Given the description of an element on the screen output the (x, y) to click on. 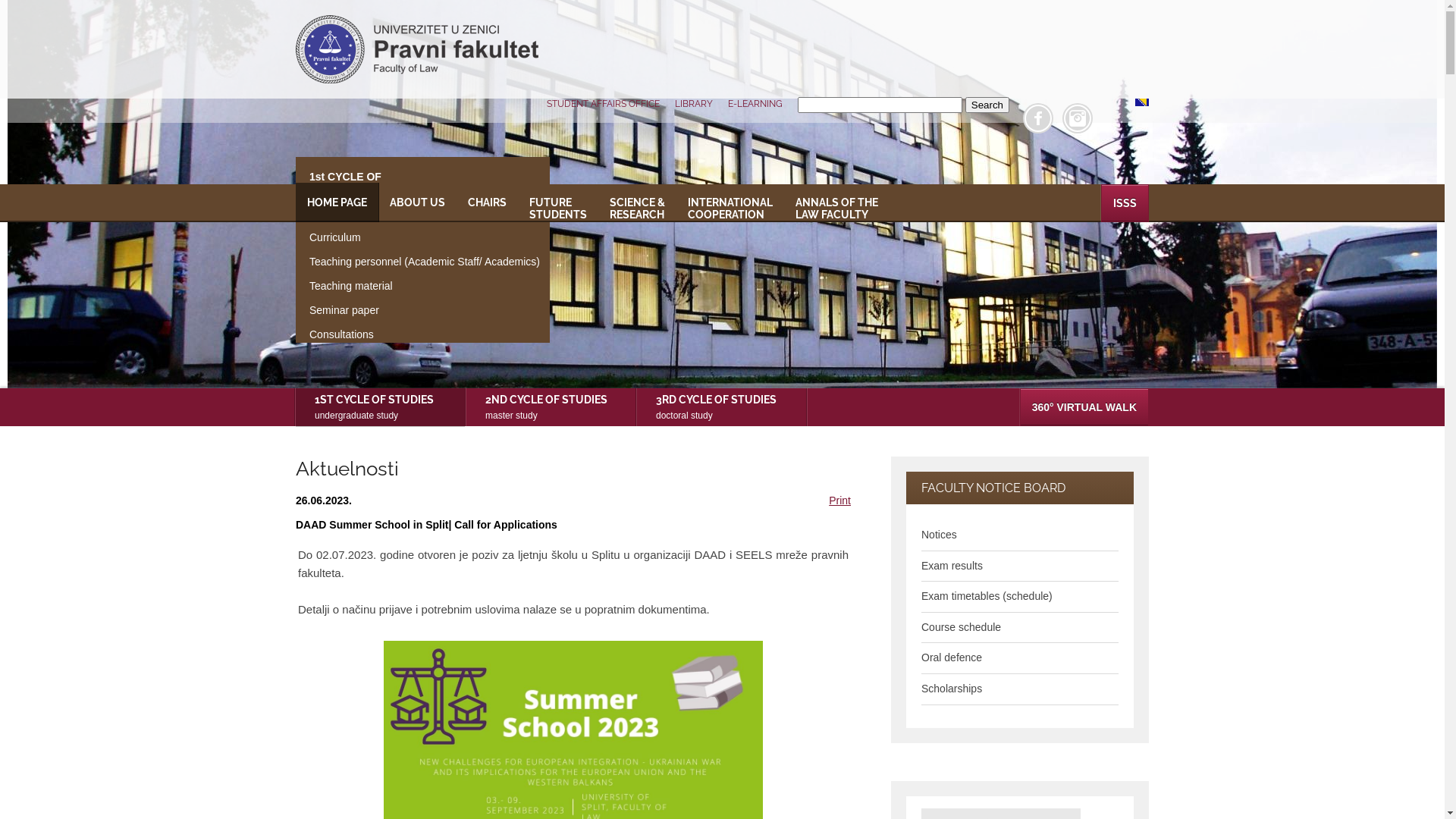
E-LEARNING Element type: text (755, 103)
Bosnian (BA) Element type: hover (1141, 101)
ISSS Element type: text (1124, 203)
STUDENT AFFAIRS OFFICE Element type: text (602, 103)
2ND CYCLE OF STUDIES
master study Element type: text (550, 407)
Teaching material Element type: text (369, 285)
Search Element type: text (987, 104)
LIBRARY Element type: text (693, 103)
Curriculum Element type: text (369, 237)
Exam results Element type: text (951, 565)
Teaching personnel (Academic Staff/ Academics) Element type: text (369, 261)
Course schedule Element type: text (961, 627)
CHAIRS Element type: text (486, 203)
INSTAGRAM Element type: text (1077, 117)
Oral defence Element type: text (951, 657)
INTERNATIONAL
COOPERATION Element type: text (730, 203)
Print Element type: text (839, 500)
Seminar paper Element type: text (369, 310)
1ST CYCLE OF STUDIES
undergraduate study Element type: text (379, 407)
Scholarships Element type: text (951, 688)
FUTURE
STUDENTS Element type: text (557, 203)
ANNALS OF THE
LAW FACULTY Element type: text (836, 203)
ABOUT US Element type: text (417, 203)
Notices Element type: text (939, 534)
HOME PAGE Element type: text (336, 202)
Consultations Element type: text (369, 334)
1st CYCLE OF STUDIES Element type: text (369, 182)
Exam timetables (schedule) Element type: text (986, 595)
3RD CYCLE OF STUDIES
doctoral study Element type: text (721, 407)
FACEBOOK Element type: text (1037, 117)
SCIENCE &
RESEARCH Element type: text (637, 203)
General information Element type: text (369, 212)
